Given the description of an element on the screen output the (x, y) to click on. 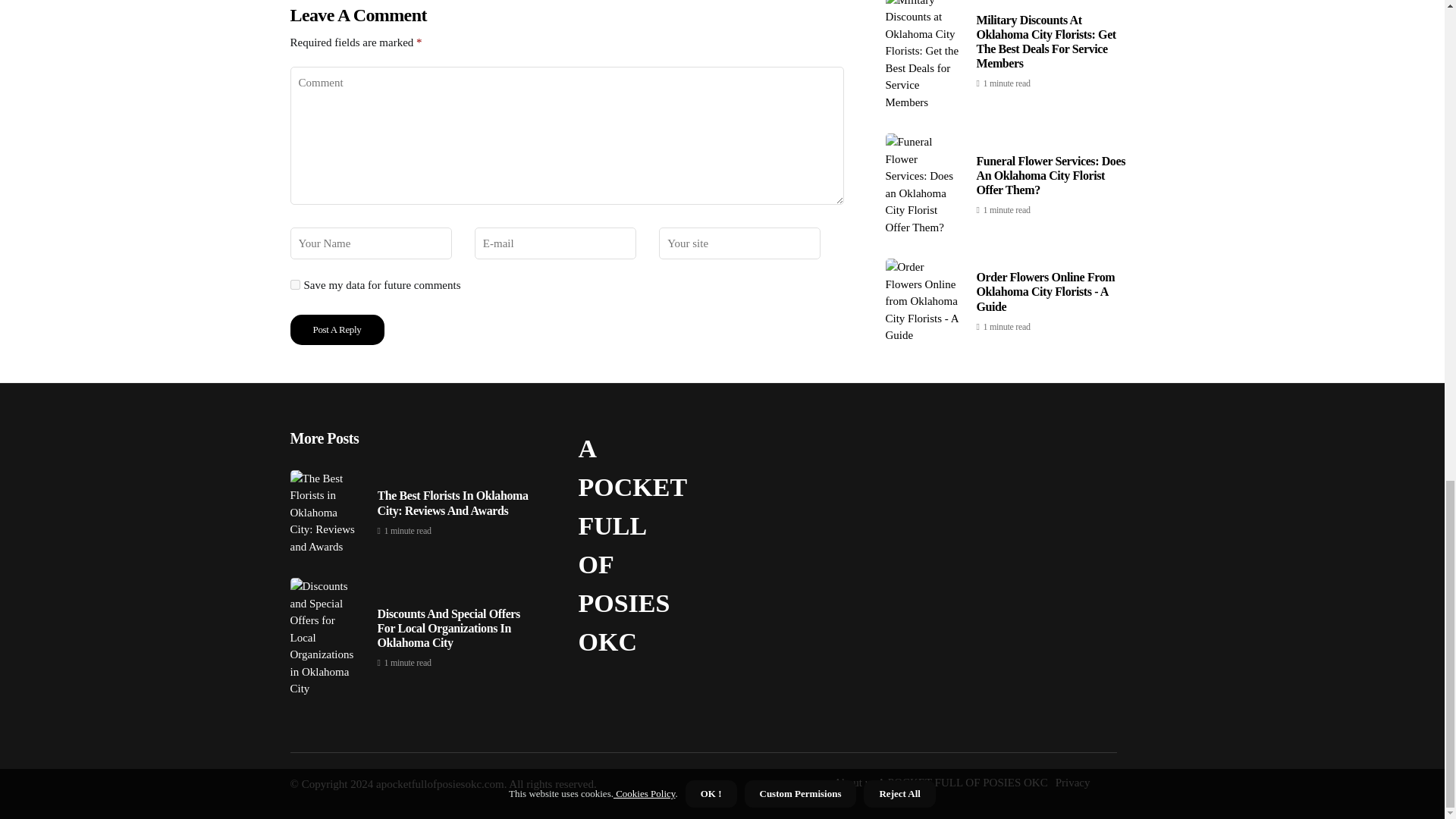
Post a Reply (336, 329)
Post a Reply (336, 329)
yes (294, 284)
